Given the description of an element on the screen output the (x, y) to click on. 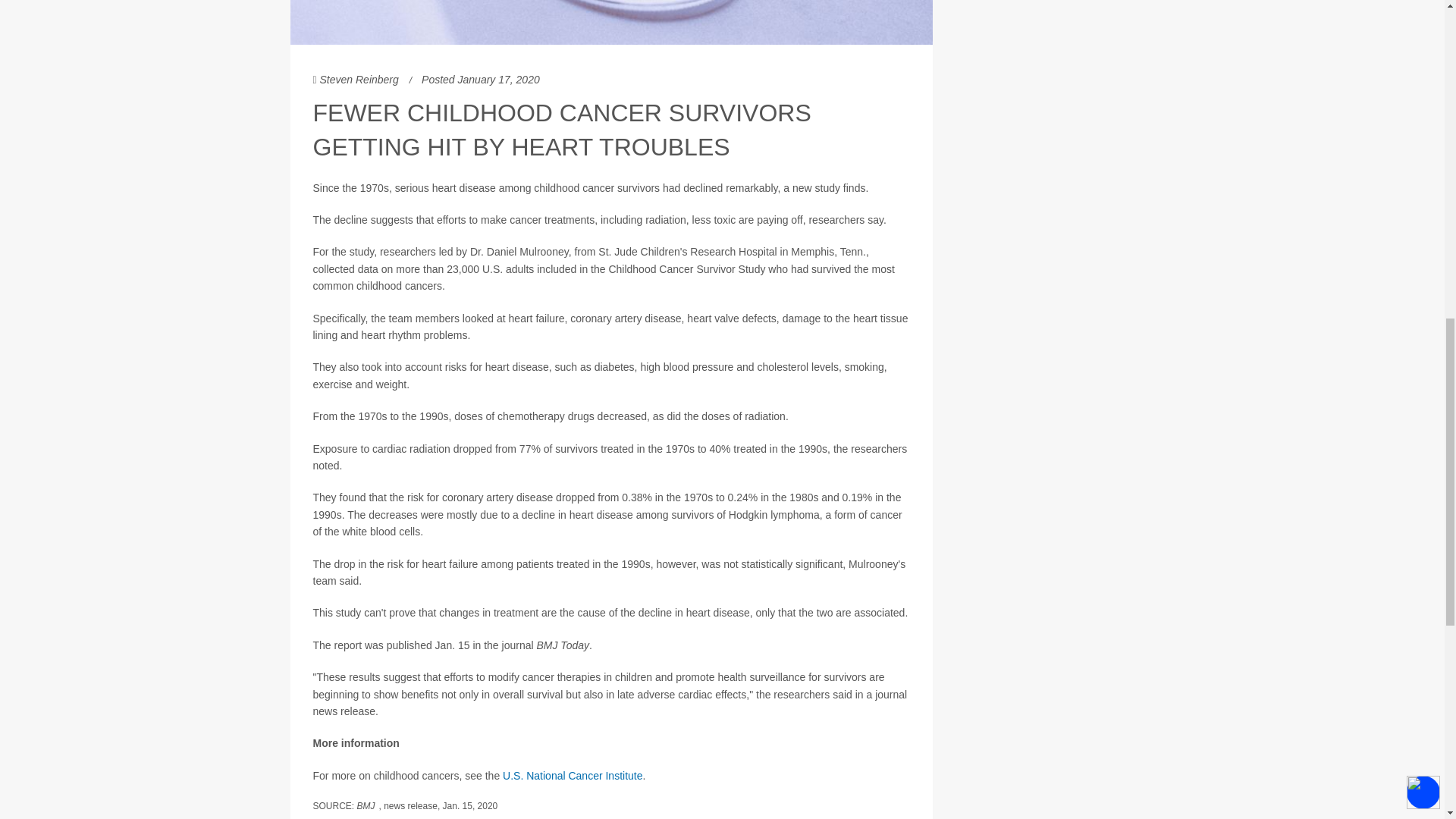
U.S. National Cancer Institute (572, 775)
